Given the description of an element on the screen output the (x, y) to click on. 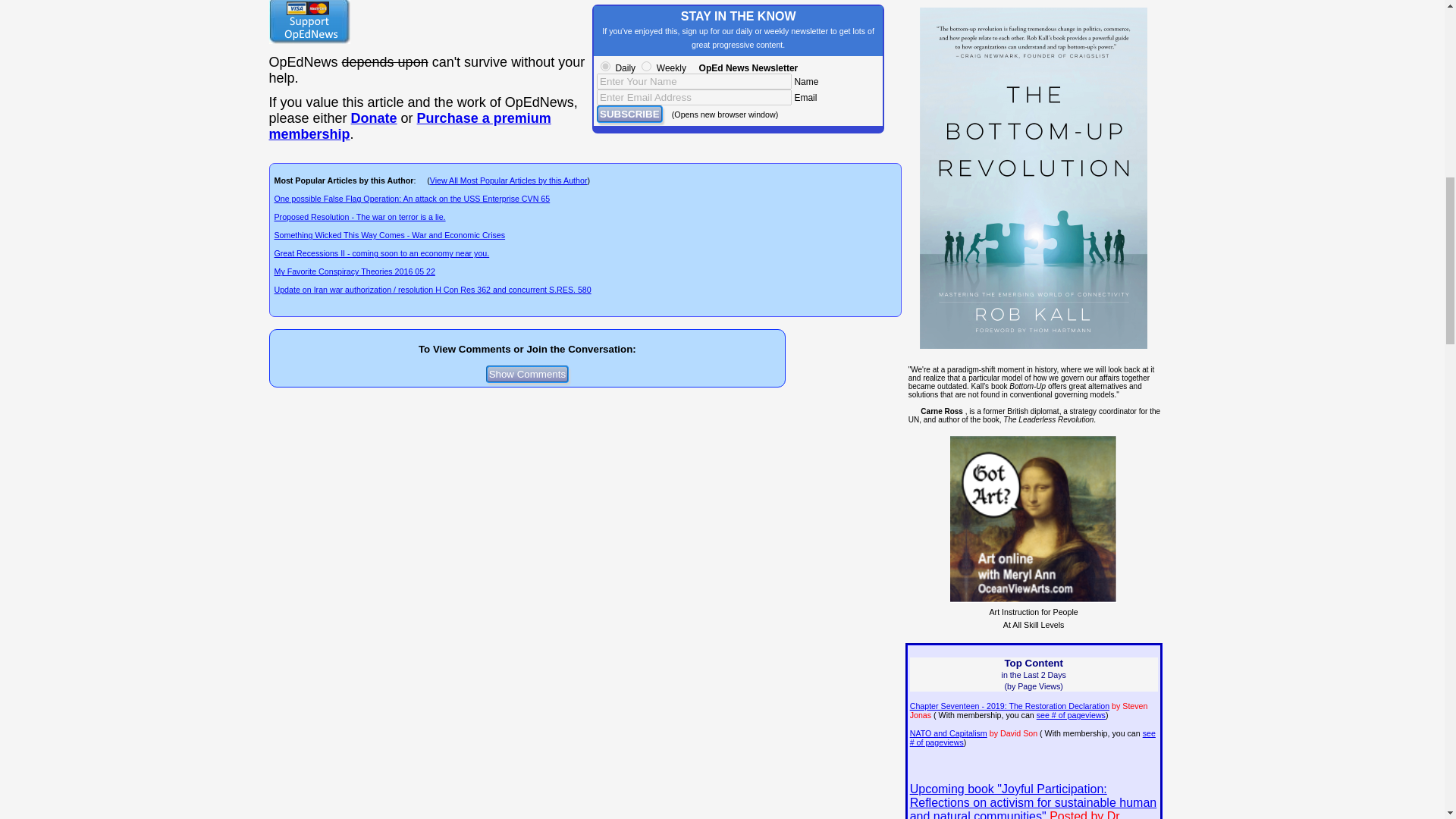
Weekly (646, 66)
SUBSCRIBE (629, 113)
-- (373, 118)
Enter Your Name (694, 81)
-- (408, 125)
Enter Email Address (694, 97)
Show Comments (527, 374)
Daily (604, 66)
Donate (373, 118)
Support OpEdNews (308, 22)
